Given the description of an element on the screen output the (x, y) to click on. 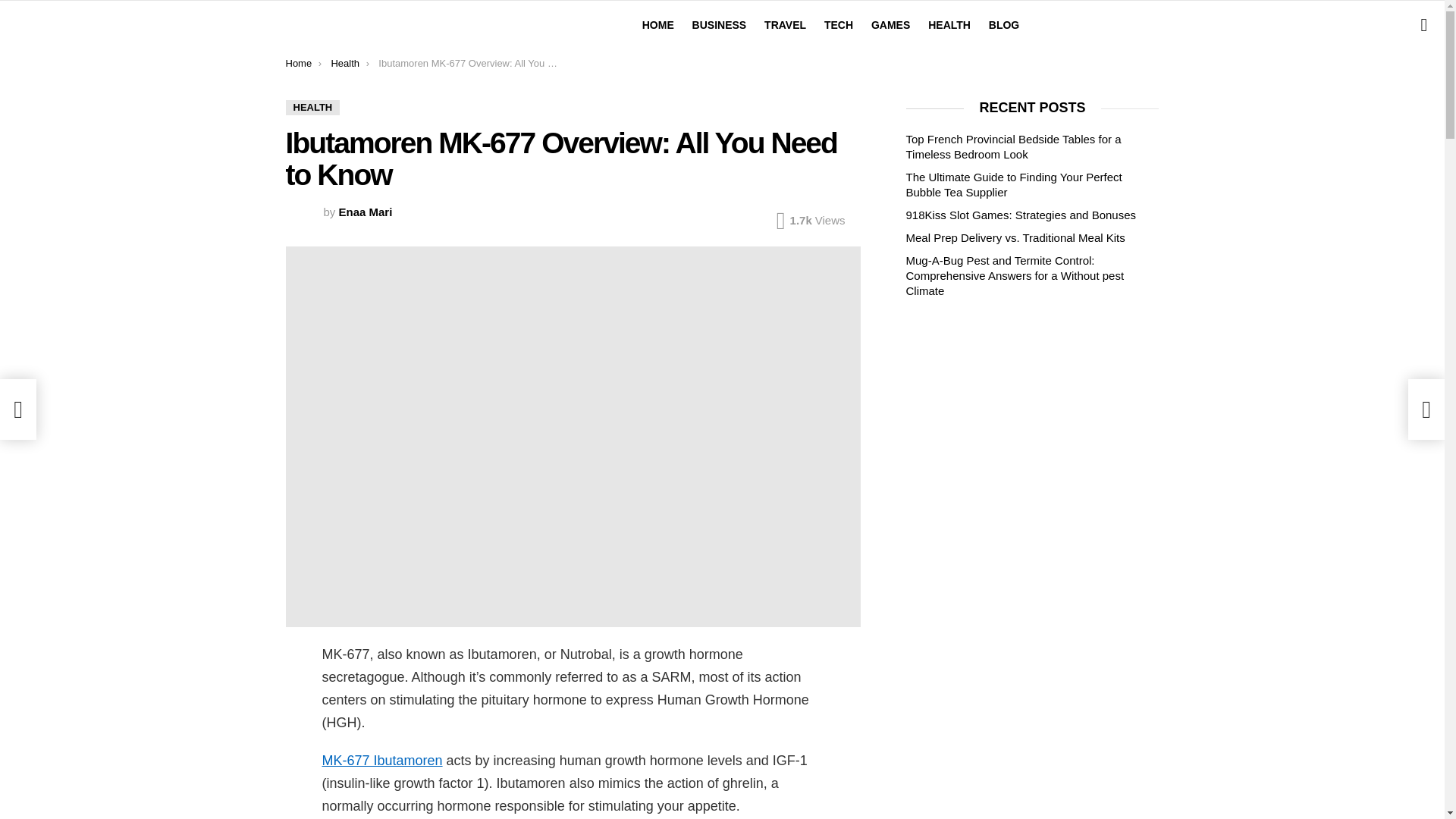
BUSINESS (719, 24)
Health (344, 62)
Posts by Enaa Mari (366, 211)
TRAVEL (785, 24)
TECH (838, 24)
Home (298, 62)
HOME (657, 24)
MK-677 Ibutamoren (381, 760)
HEALTH (312, 107)
Enaa Mari (366, 211)
